Given the description of an element on the screen output the (x, y) to click on. 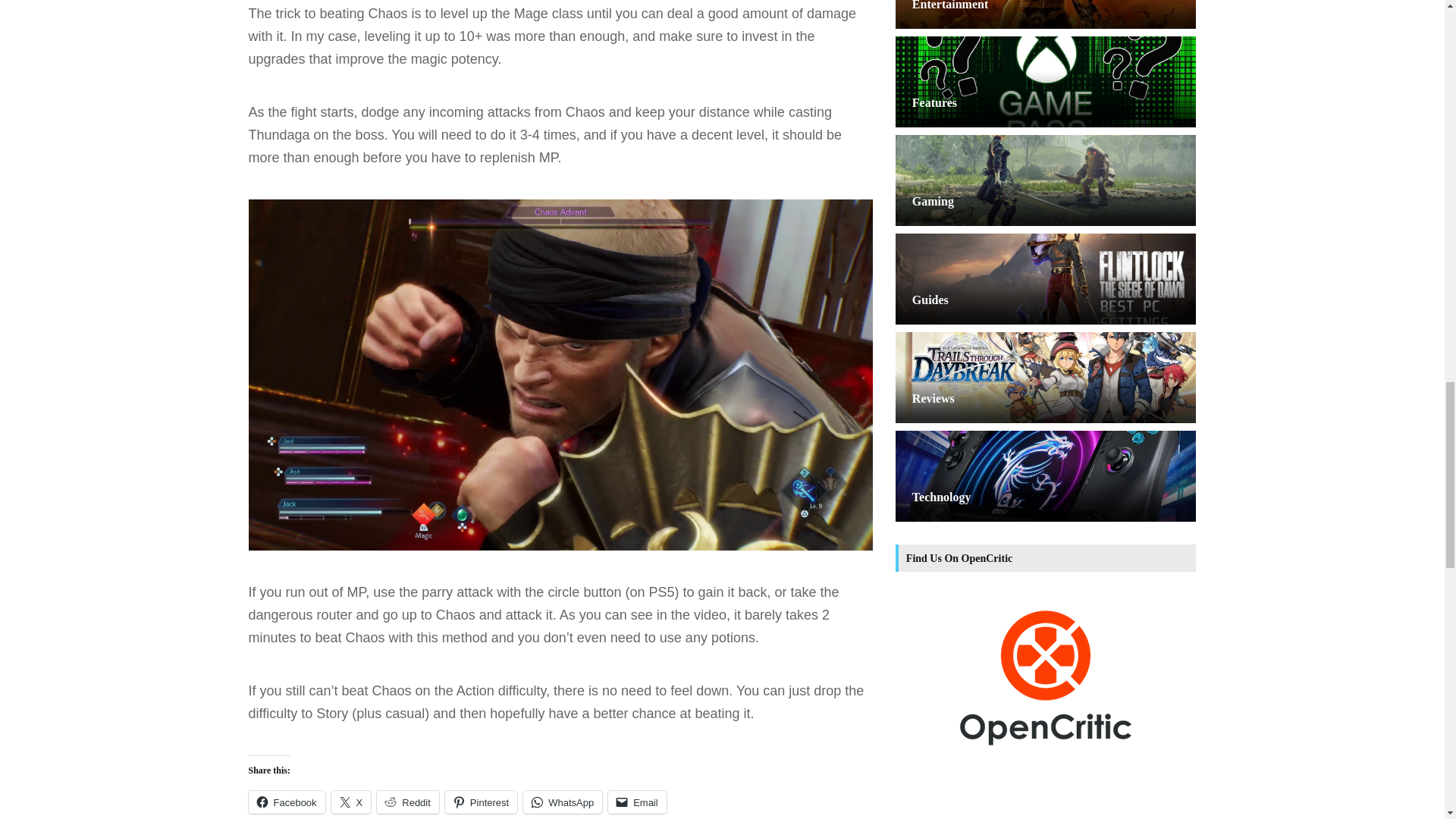
Click to email a link to a friend (637, 801)
Facebook (286, 801)
Click to share on Facebook (286, 801)
X (351, 801)
Reddit (408, 801)
Click to share on X (351, 801)
Click to share on WhatsApp (562, 801)
Click to share on Reddit (408, 801)
WhatsApp (562, 801)
Click to share on Pinterest (480, 801)
Email (637, 801)
Pinterest (480, 801)
